Given the description of an element on the screen output the (x, y) to click on. 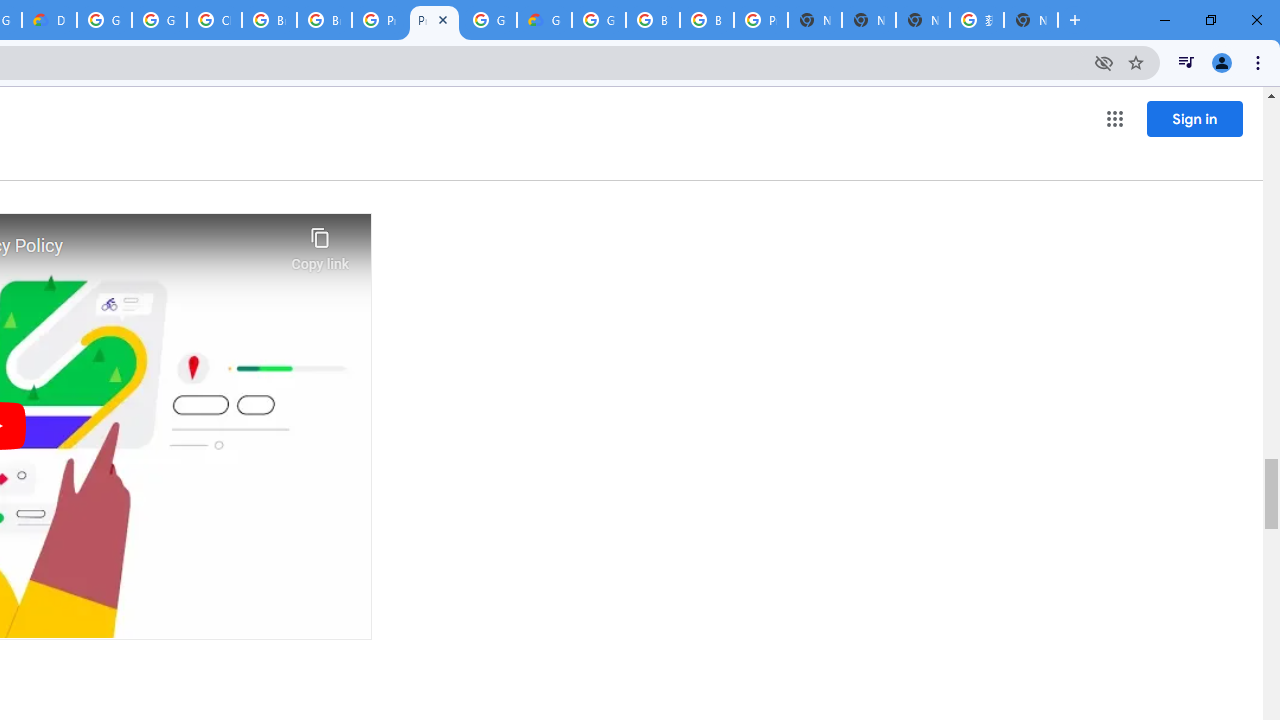
Browse Chrome as a guest - Computer - Google Chrome Help (268, 20)
Browse Chrome as a guest - Computer - Google Chrome Help (706, 20)
Google Cloud Platform (598, 20)
New Tab (1030, 20)
New Tab (815, 20)
Control your music, videos, and more (1185, 62)
